Given the description of an element on the screen output the (x, y) to click on. 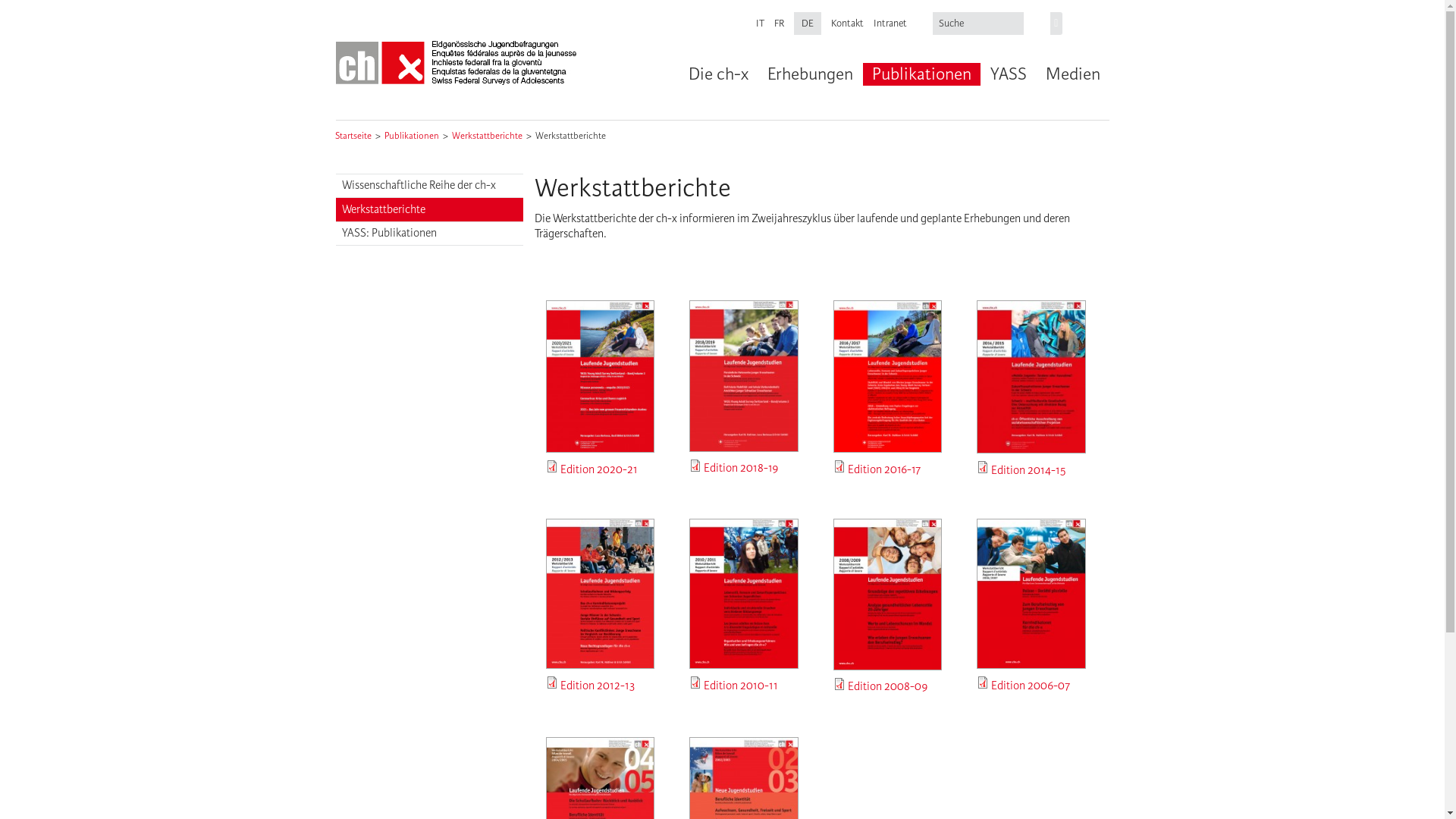
werkstattbericht_2018_2019-inet.pdf Element type: text (801, 480)
Medien Element type: text (1072, 73)
p114973_01_bbl_werkstattbericht_gzd.pdf Element type: text (707, 470)
Edition 2010-11 Element type: text (740, 685)
Intranet Element type: text (889, 23)
Edition 2020-21 Element type: text (598, 469)
application/pdf Element type: hover (982, 467)
application/pdf Element type: hover (839, 683)
ch-x_werkstattbericht-2012-13.pdf Element type: text (621, 708)
Werkstattberichte Element type: text (429, 209)
Geben Sie die Begriffe ein, nach denen Sie suchen. Element type: hover (979, 23)
Wissenschaftliche Reihe der ch-x Element type: text (429, 185)
application/pdf Element type: hover (695, 465)
Publikationen Element type: text (920, 73)
Edition 2006-07 Element type: text (1030, 685)
Edition 2014-15 Element type: text (1028, 470)
Edition 2012-13 Element type: text (597, 685)
CHX Startseite Element type: hover (457, 63)
Startseite Element type: text (353, 135)
Edition 2016-17 Element type: text (883, 469)
DE Element type: text (807, 23)
application/pdf Element type: hover (552, 466)
Edition 2008-09 Element type: text (887, 686)
CHX Startseite Element type: hover (457, 63)
Werkstattberichte Element type: text (570, 135)
FR Element type: text (779, 23)
wsb-2010-11.pdf Element type: text (751, 686)
Die ch-x Element type: text (716, 73)
YASS Element type: text (1007, 73)
Publikationen Element type: text (410, 135)
Skip to main content Element type: text (48, 0)
application/pdf Element type: hover (695, 682)
Erhebungen Element type: text (808, 73)
werkstattbericht_chx_2016-2017.pdf Element type: text (941, 481)
wsb-2006-07.pdf Element type: text (1019, 697)
wsb-2008-09.pdf Element type: text (876, 698)
application/pdf Element type: hover (839, 466)
werkstattbericht_chx_2014-2015_web-version.pdf Element type: text (1084, 481)
Edition 2018-19 Element type: text (740, 468)
application/pdf Element type: hover (982, 682)
IT Element type: text (760, 23)
YASS: Publikationen Element type: text (429, 233)
application/pdf Element type: hover (552, 682)
Kontakt Element type: text (847, 23)
